Given the description of an element on the screen output the (x, y) to click on. 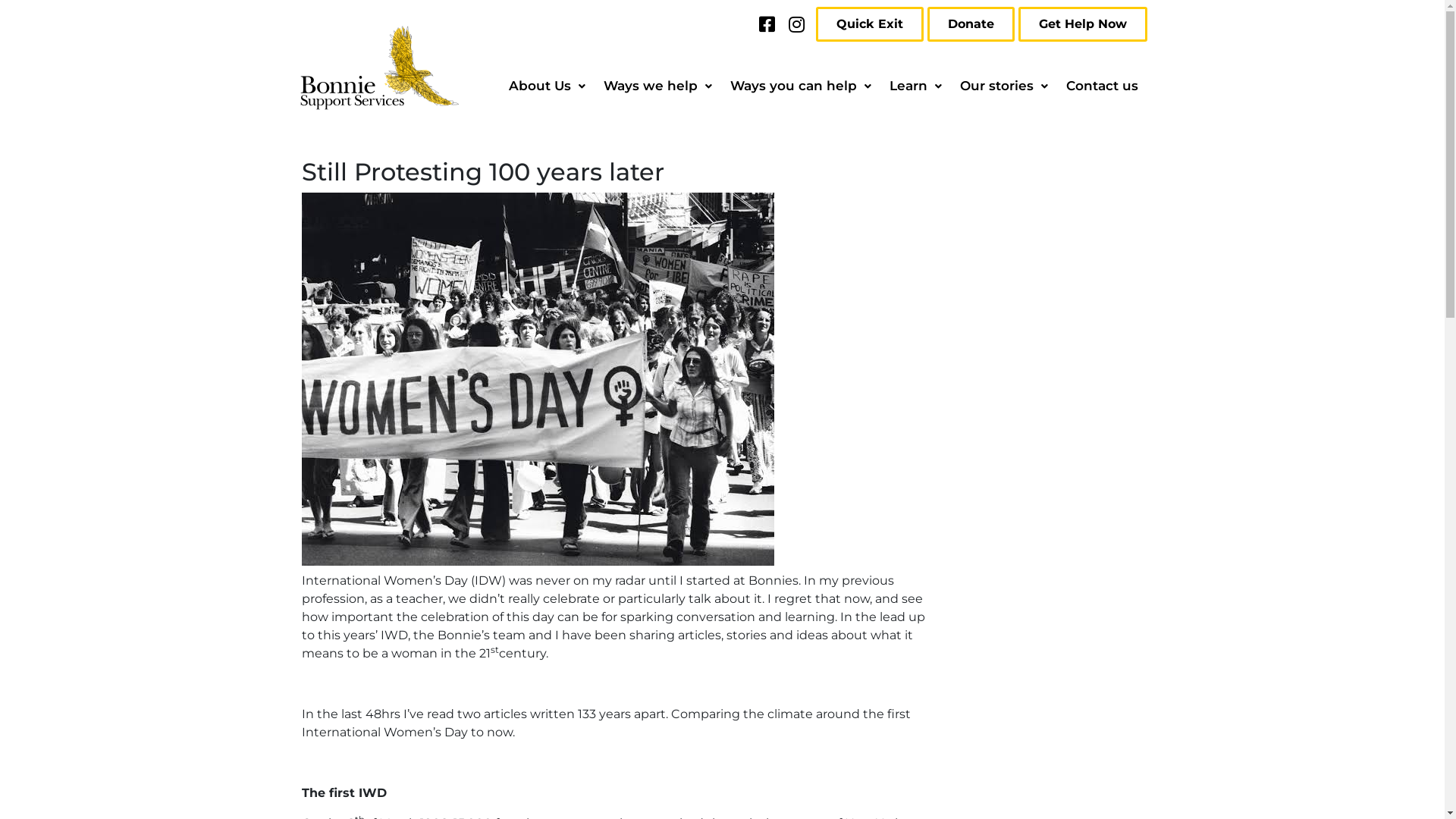
Quick Exit Element type: text (869, 23)
About Us Element type: text (545, 86)
Learn Element type: text (914, 86)
Our stories Element type: text (1003, 86)
Ways you can help Element type: text (799, 86)
Contact us Element type: text (1102, 86)
Donate Element type: text (969, 23)
Ways we help Element type: text (657, 86)
Bonnie Support Services Element type: hover (378, 67)
Get Help Now Element type: text (1081, 23)
